Given the description of an element on the screen output the (x, y) to click on. 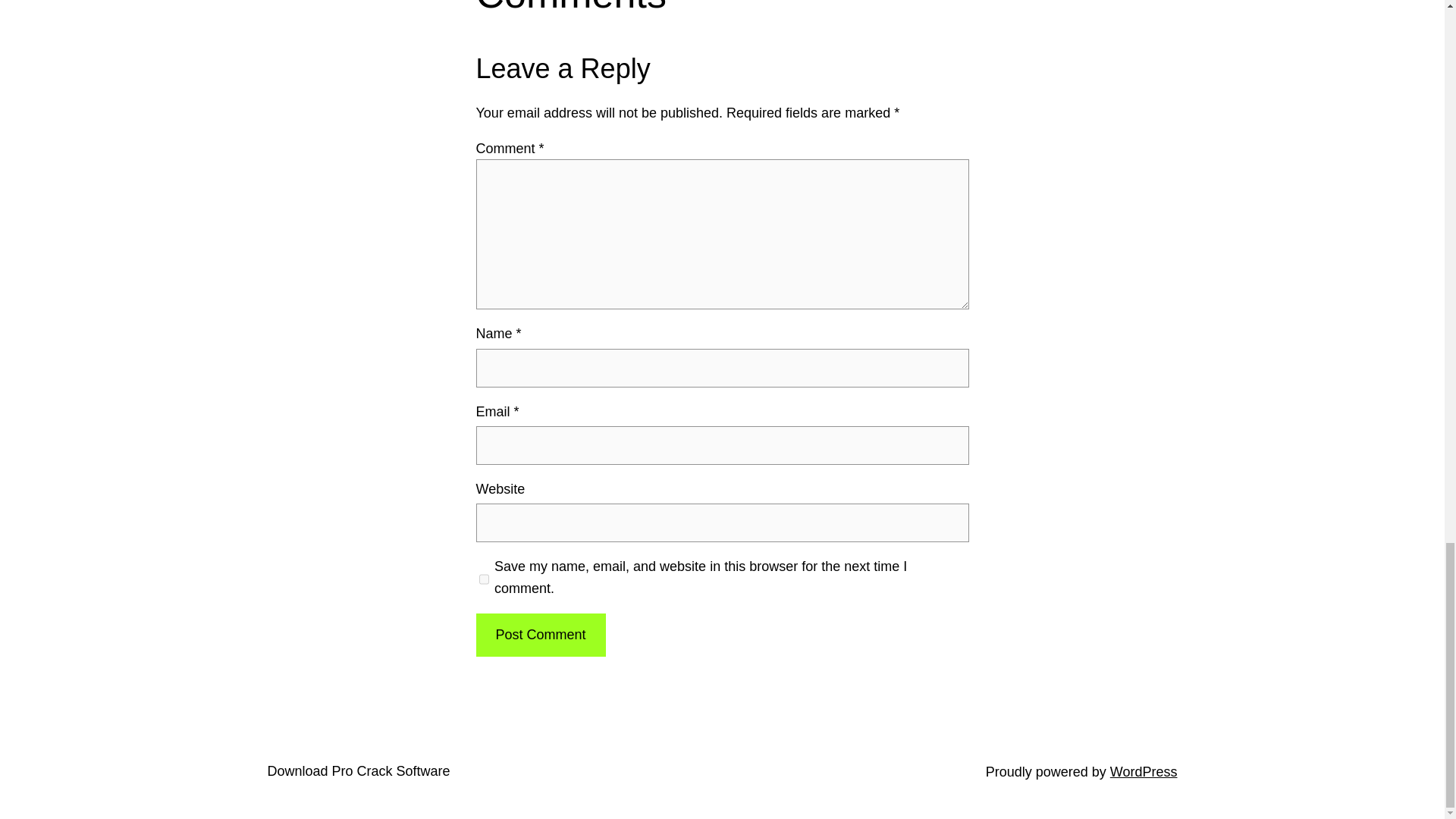
Post Comment (540, 634)
WordPress (1143, 771)
Download Pro Crack Software (357, 770)
Post Comment (540, 634)
